Given the description of an element on the screen output the (x, y) to click on. 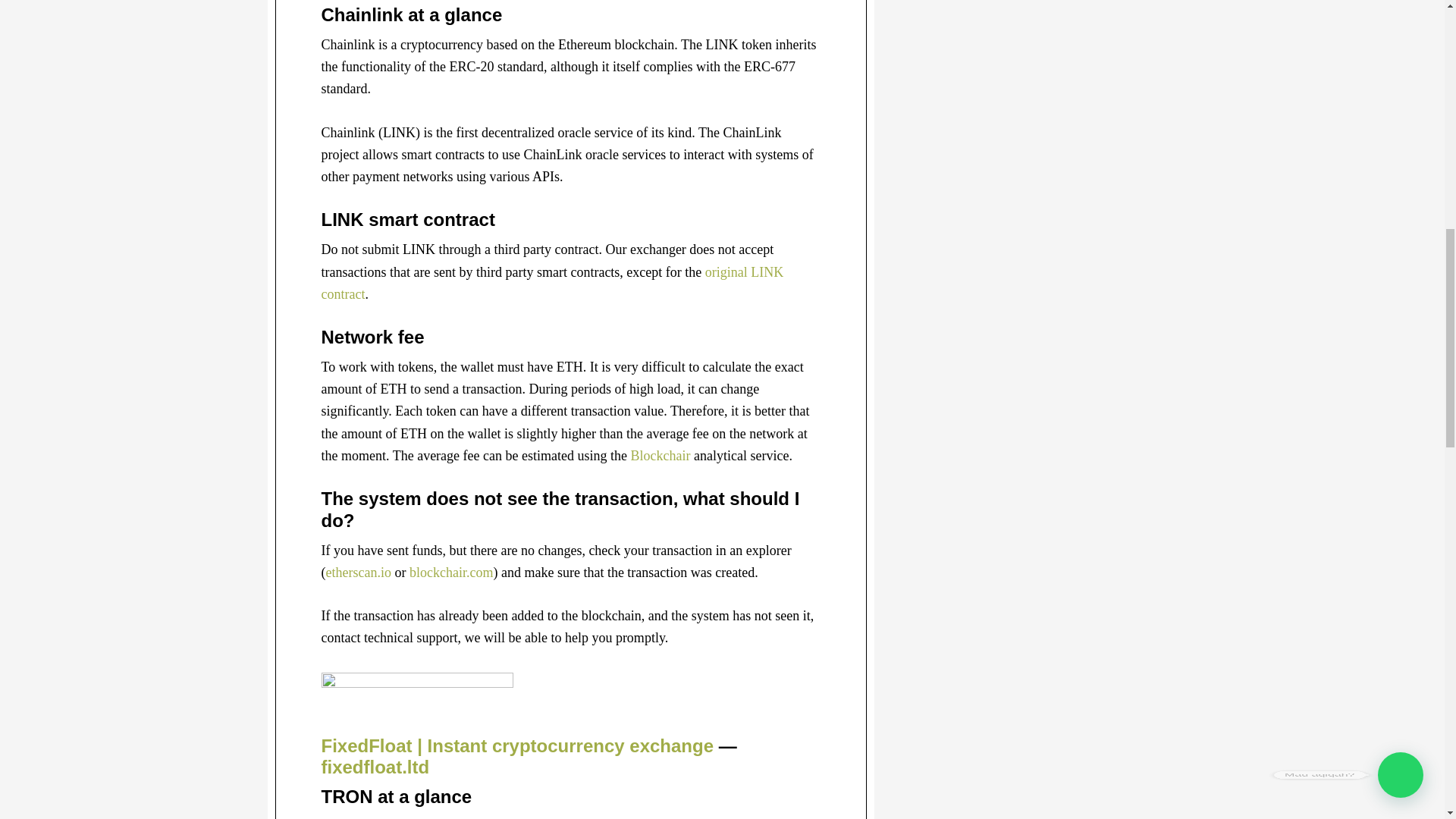
blockchair.com (451, 572)
Blockchair (660, 455)
original LINK contract (552, 282)
fixedfloat.ltd (375, 766)
etherscan.io (358, 572)
